Given the description of an element on the screen output the (x, y) to click on. 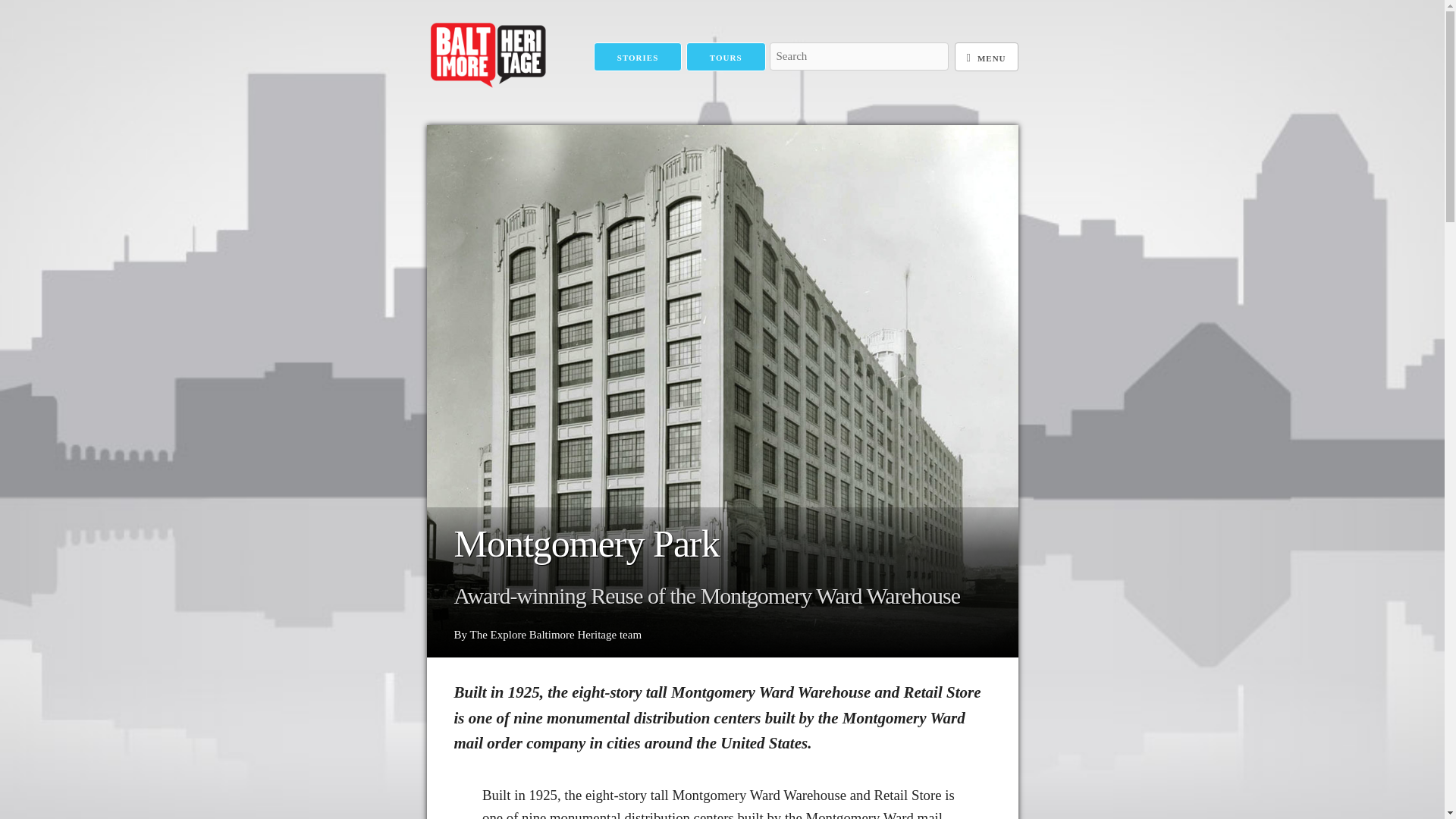
Menu (986, 57)
Submit (791, 84)
STORIES (638, 57)
Submit (791, 84)
TOURS (725, 57)
